Given the description of an element on the screen output the (x, y) to click on. 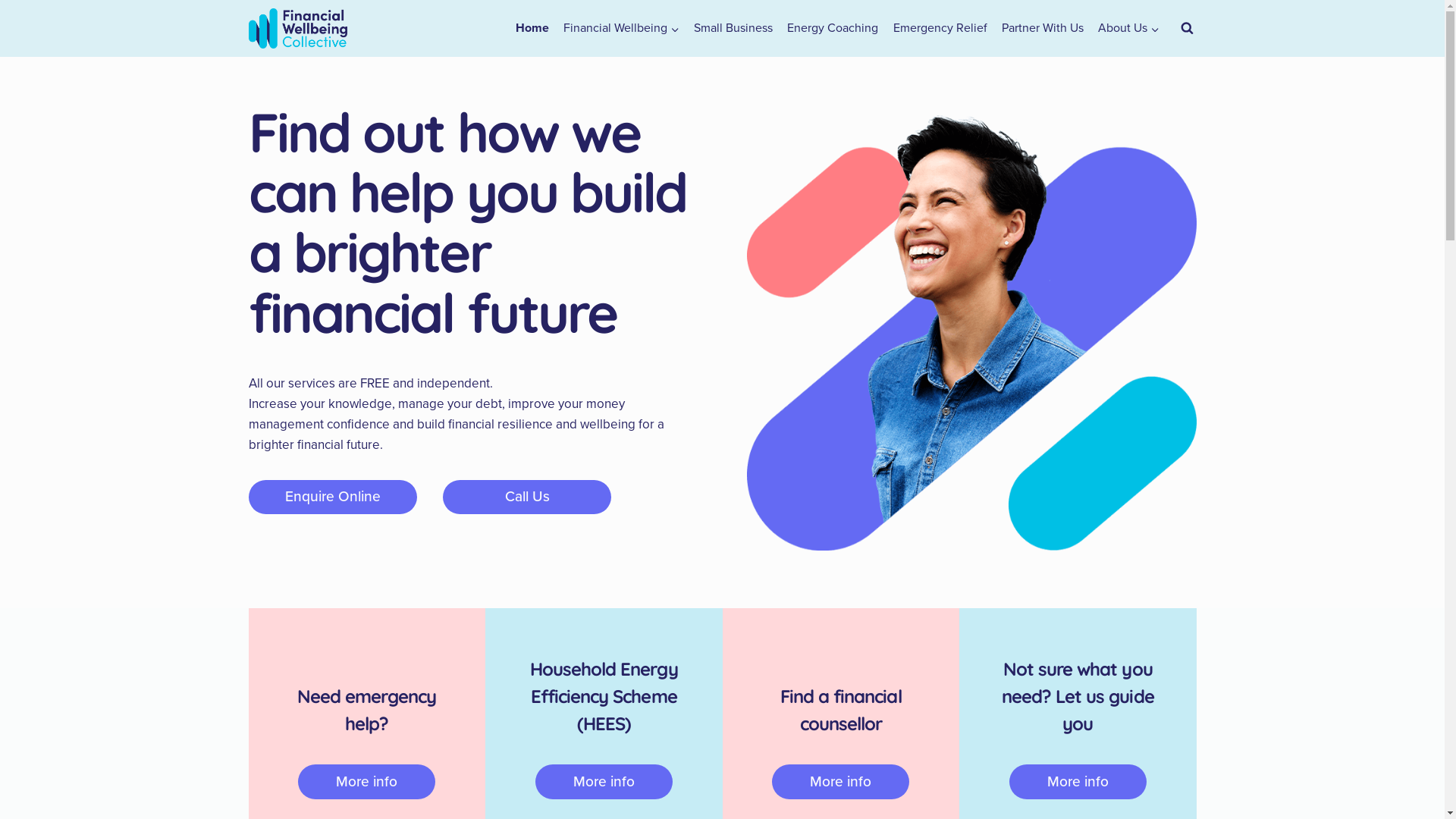
Energy Coaching Element type: text (832, 28)
More info Element type: text (1077, 781)
Call Us Element type: text (526, 496)
More info Element type: text (366, 781)
About Us Element type: text (1128, 28)
Financial Wellbeing Element type: text (620, 28)
More info Element type: text (603, 781)
Small Business Element type: text (733, 28)
Enquire Online Element type: text (332, 496)
More info Element type: text (840, 781)
Emergency Relief Element type: text (939, 28)
Partner With Us Element type: text (1042, 28)
Home Element type: text (531, 28)
